Given the description of an element on the screen output the (x, y) to click on. 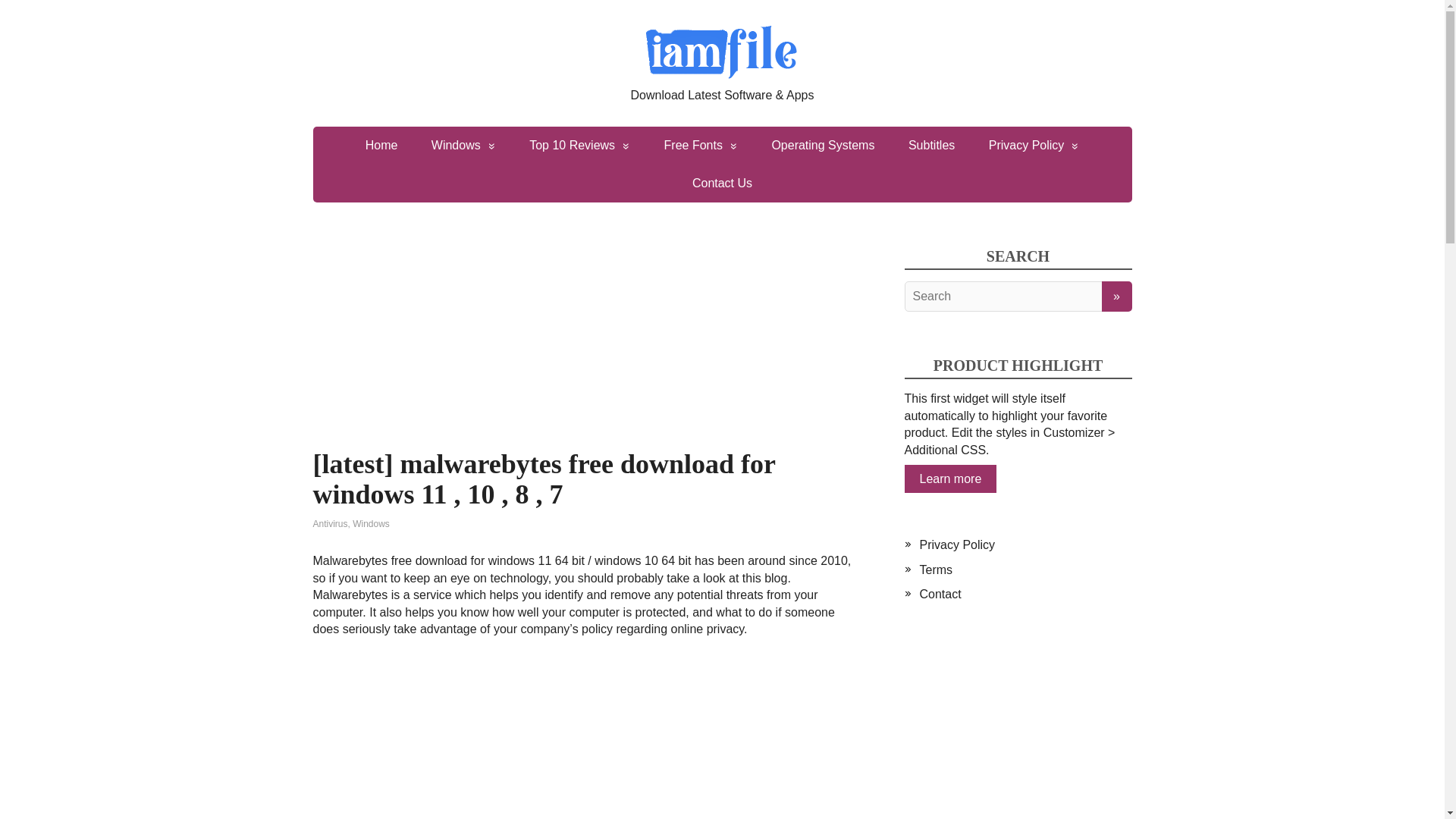
Windows (463, 145)
Top 10 Reviews (579, 145)
Operating Systems (822, 145)
Free Fonts (700, 145)
Home (381, 145)
